Given the description of an element on the screen output the (x, y) to click on. 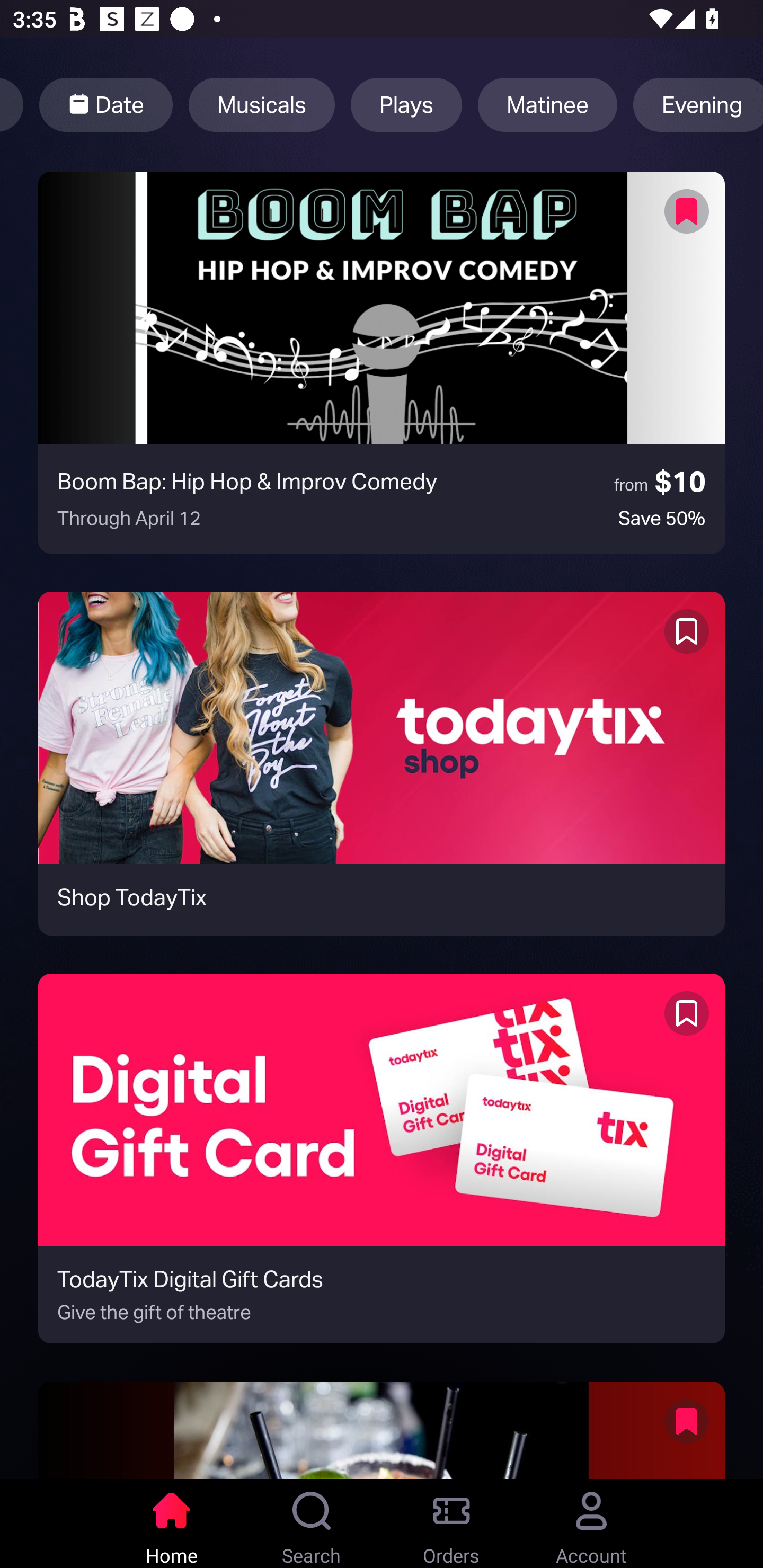
Date (105, 104)
Musicals (261, 104)
Plays (406, 104)
Matinee (547, 104)
Evening (698, 104)
Shop TodayTix (381, 763)
Search (311, 1523)
Orders (451, 1523)
Account (591, 1523)
